Given the description of an element on the screen output the (x, y) to click on. 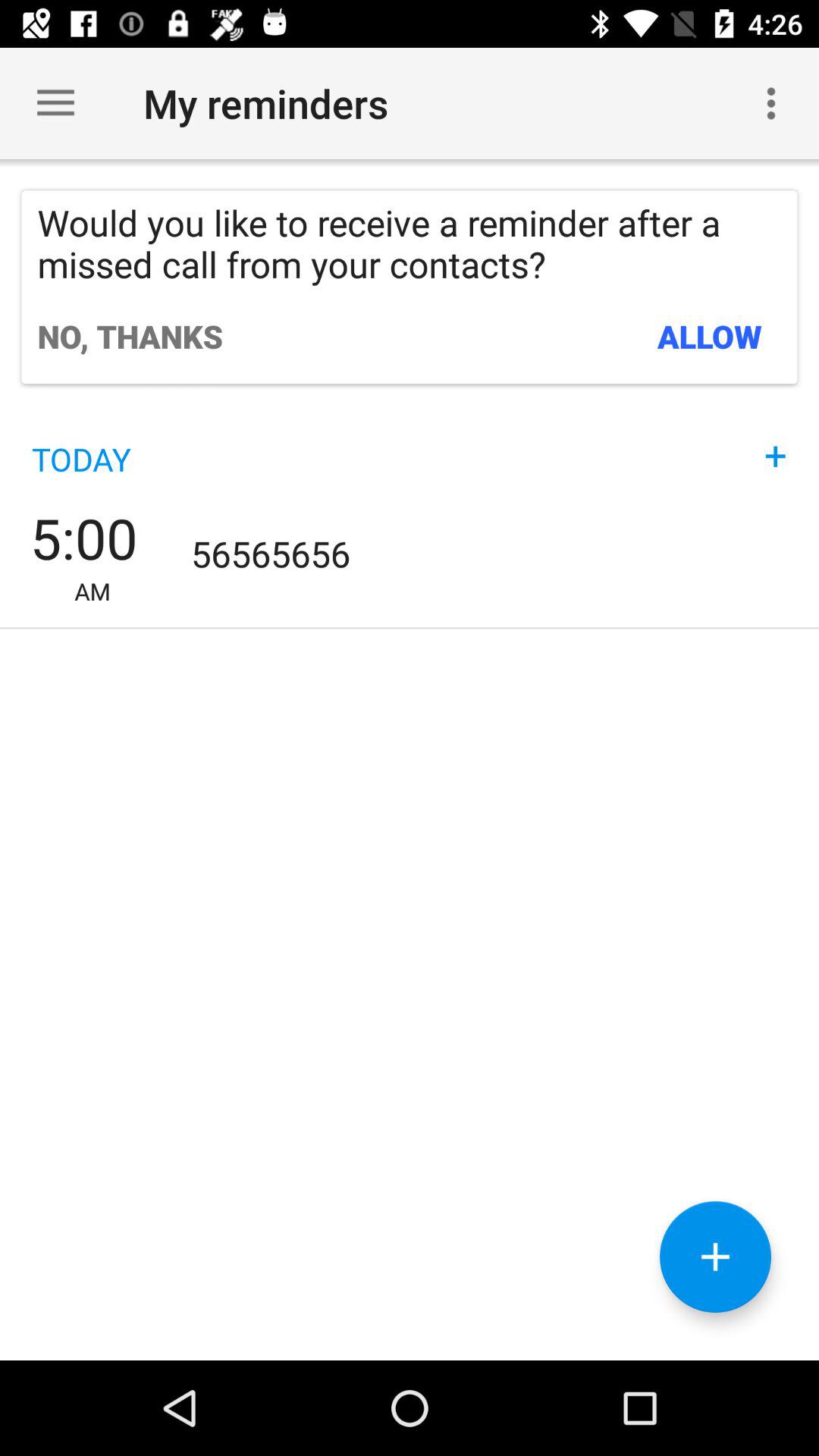
swipe until + (775, 440)
